Given the description of an element on the screen output the (x, y) to click on. 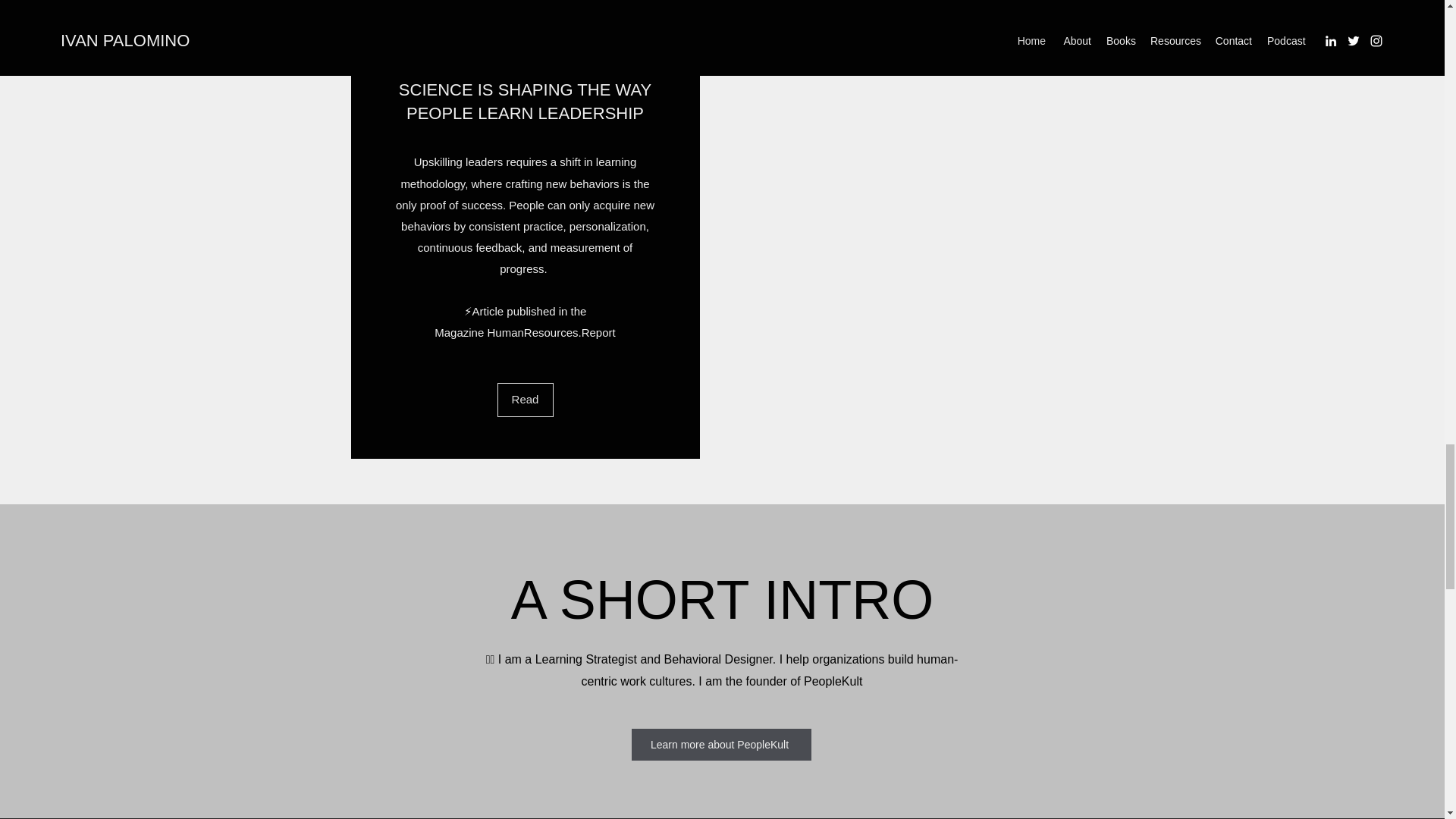
Learn more about PeopleKult (720, 744)
Read (525, 399)
